Given the description of an element on the screen output the (x, y) to click on. 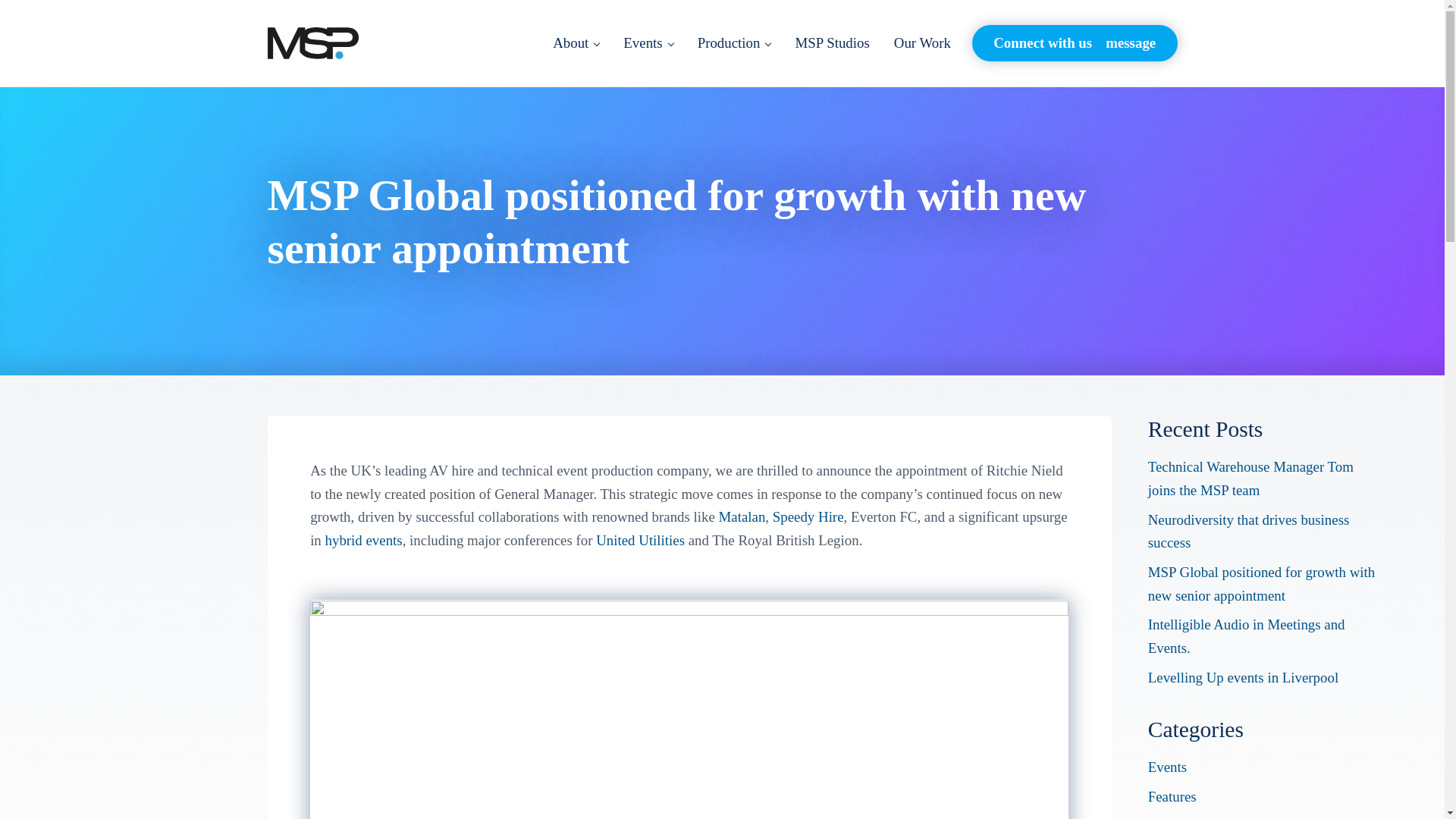
Speedy Hire (808, 516)
United Utilities (639, 539)
Matalan (742, 516)
Features (1172, 796)
Technical Warehouse Manager Tom joins the MSP team (1251, 477)
hybrid events (363, 539)
Connect with us (1074, 42)
Levelling Up events in Liverpool (1243, 677)
Events (1167, 766)
Our Work (922, 42)
Neurodiversity that drives business success (1248, 531)
Intelligible Audio in Meetings and Events. (1246, 636)
MSP Studios (831, 42)
